Given the description of an element on the screen output the (x, y) to click on. 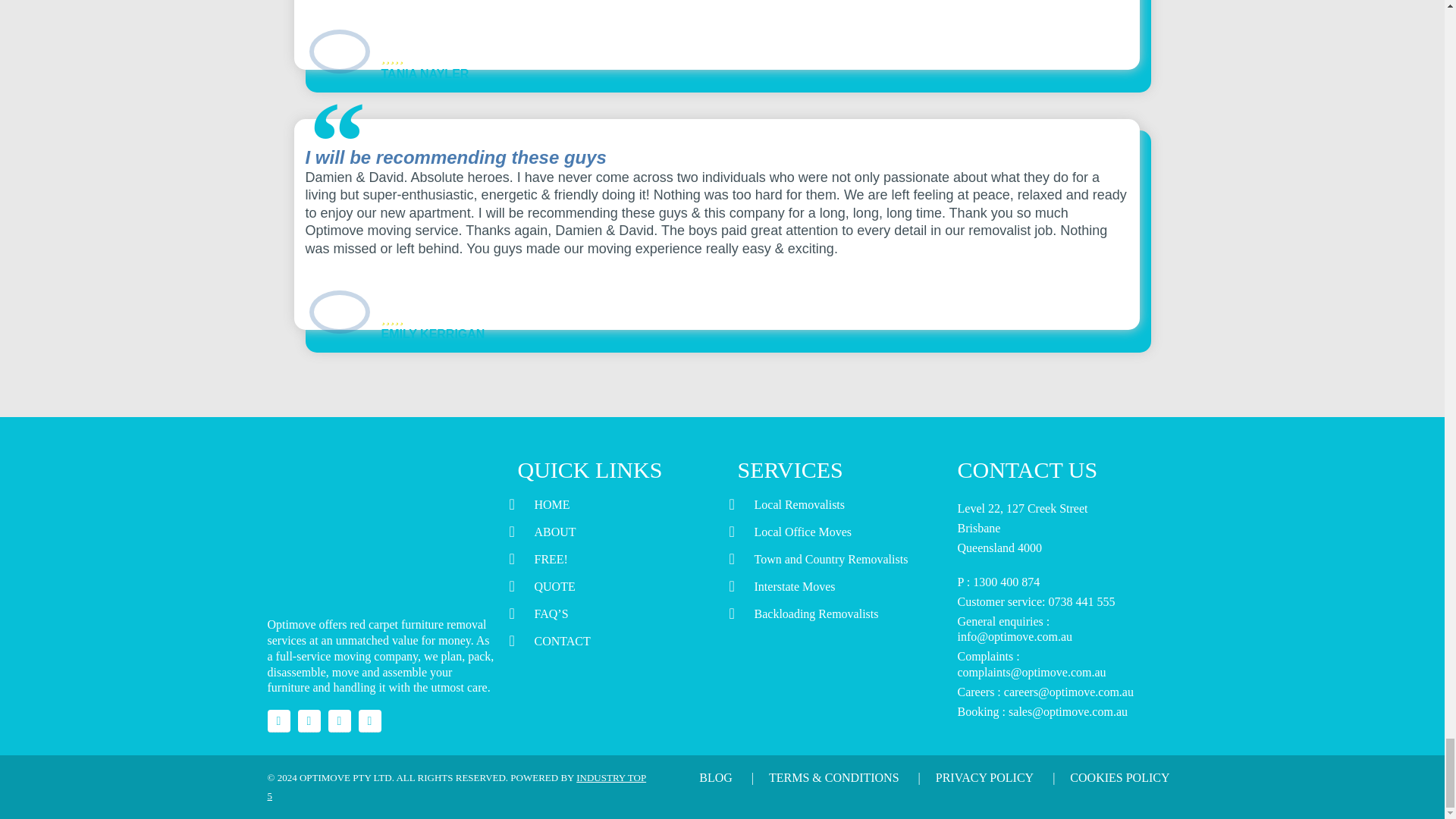
optimoveremoval (277, 721)
optimoveremoval (369, 721)
optimoveremoval (338, 721)
optimoveremoval (308, 721)
